Given the description of an element on the screen output the (x, y) to click on. 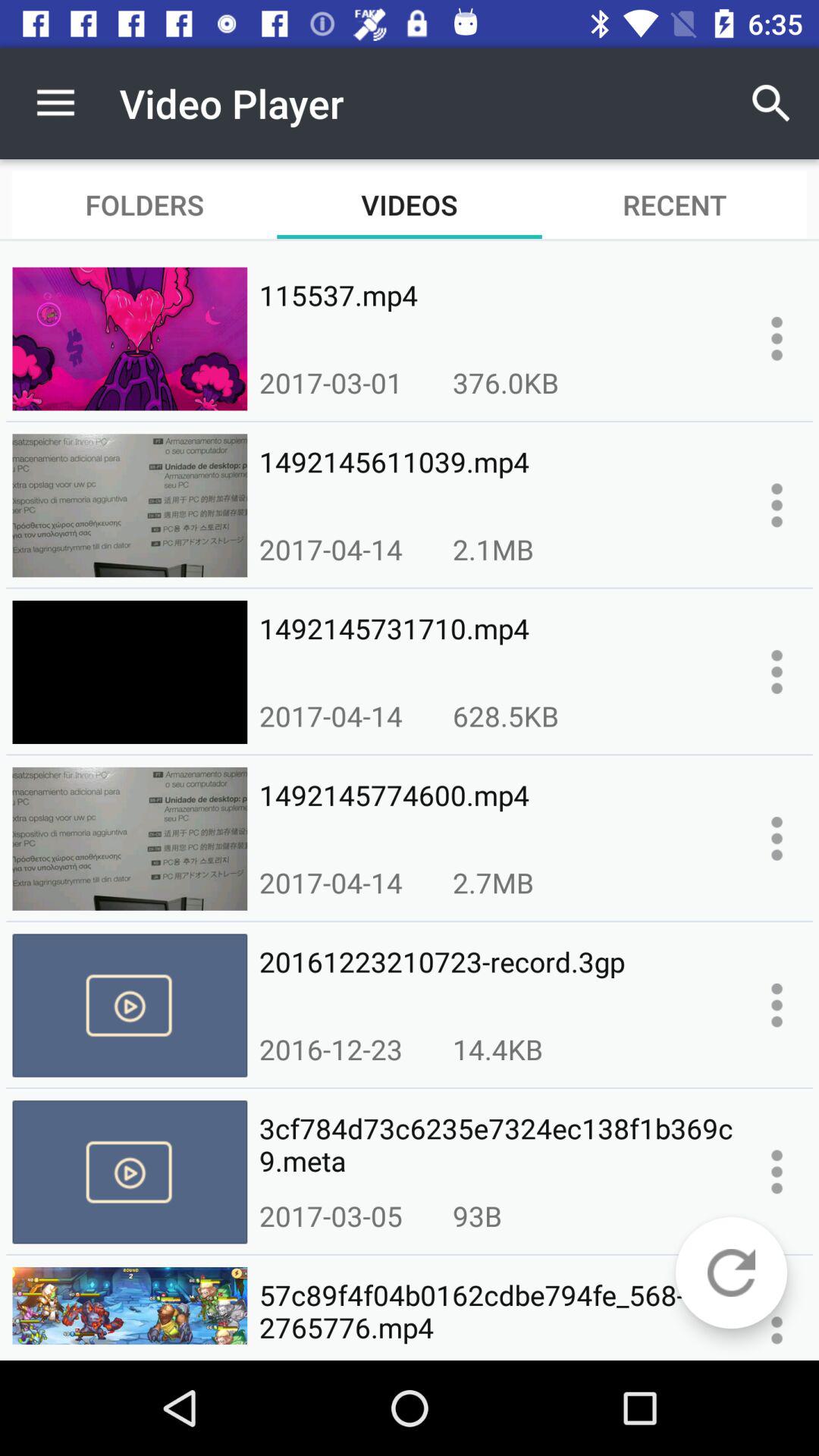
go to page (776, 1171)
